Given the description of an element on the screen output the (x, y) to click on. 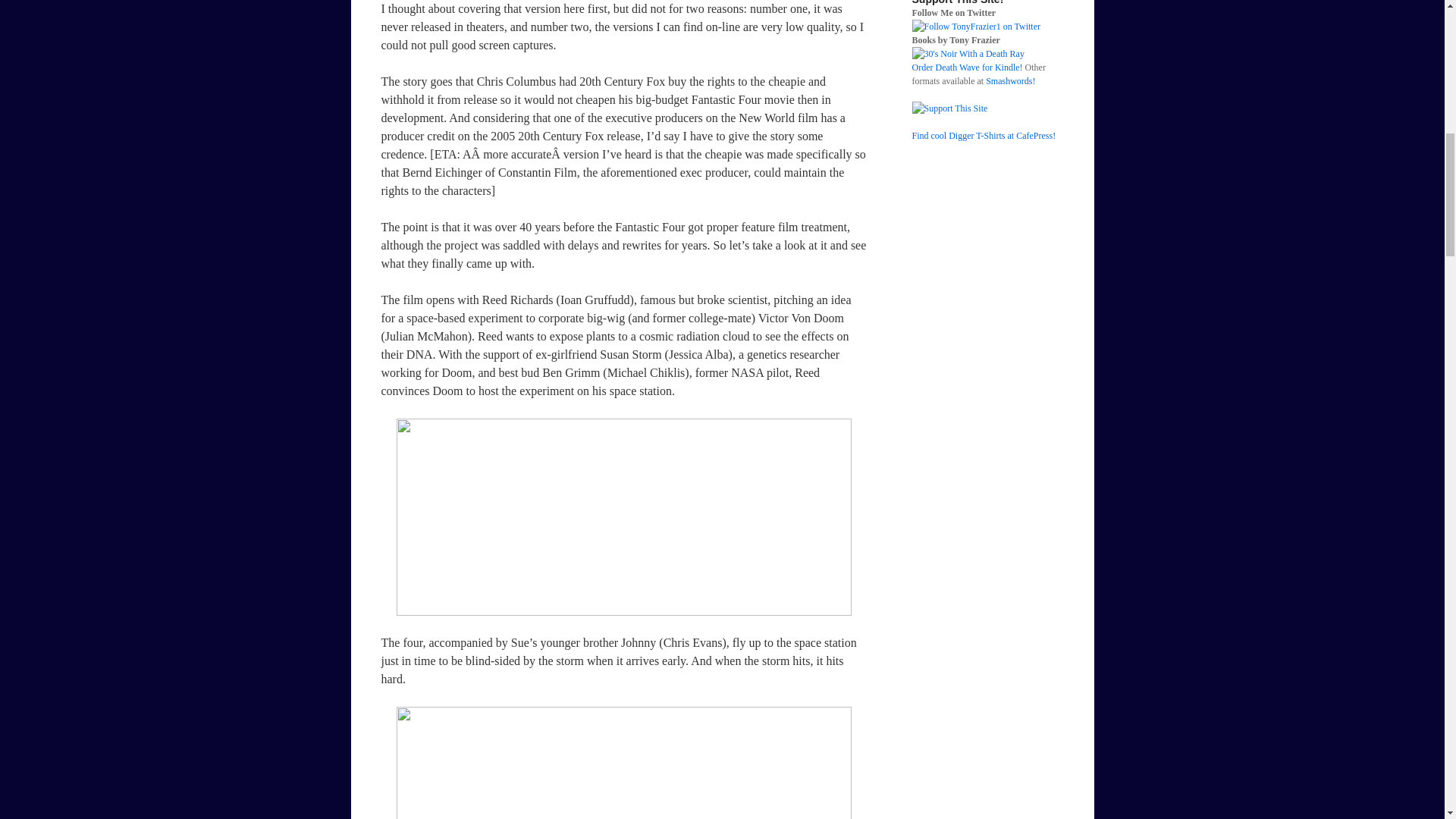
Everybody minus Johnny (623, 516)
